Given the description of an element on the screen output the (x, y) to click on. 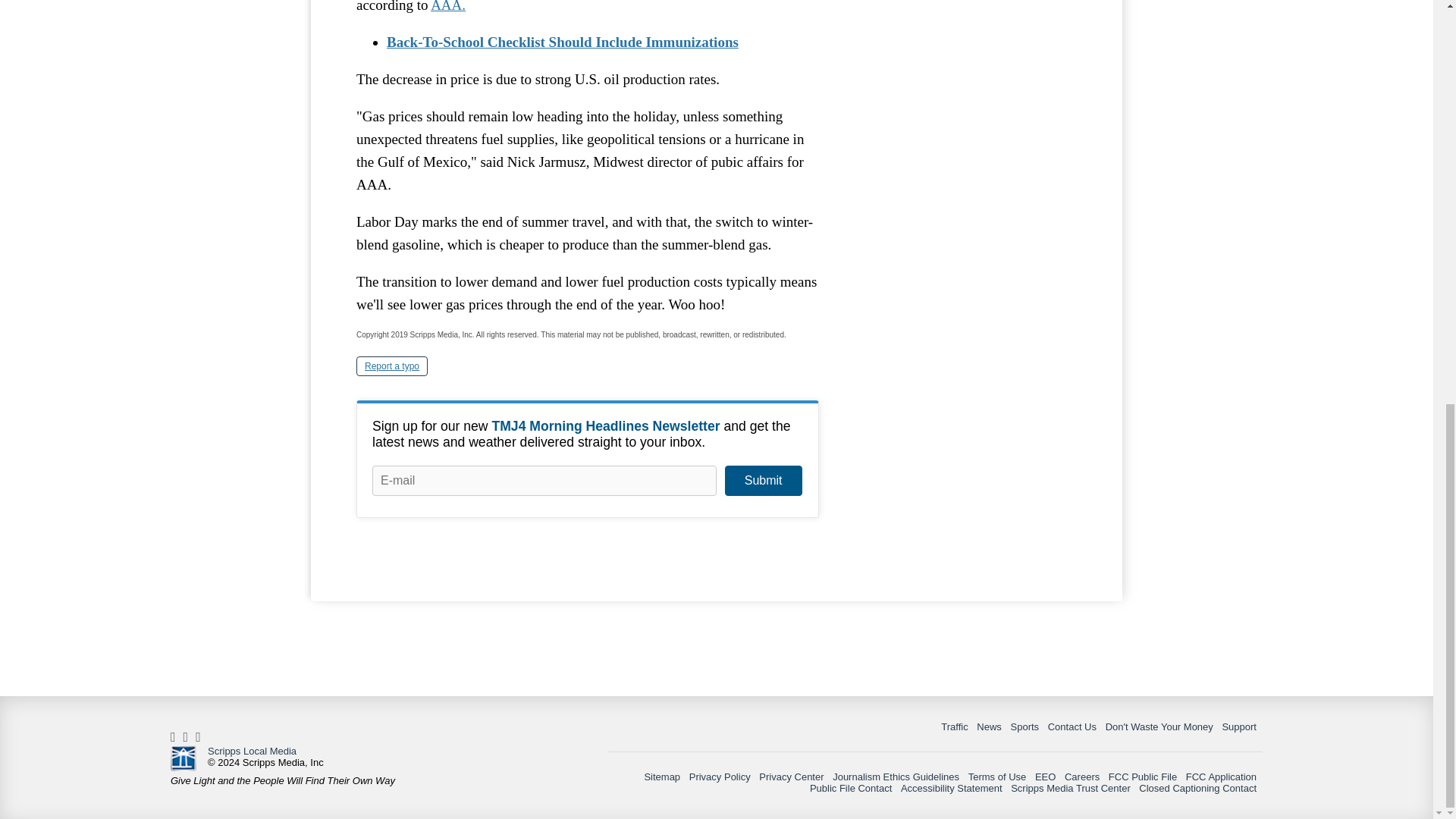
Submit (763, 481)
